Given the description of an element on the screen output the (x, y) to click on. 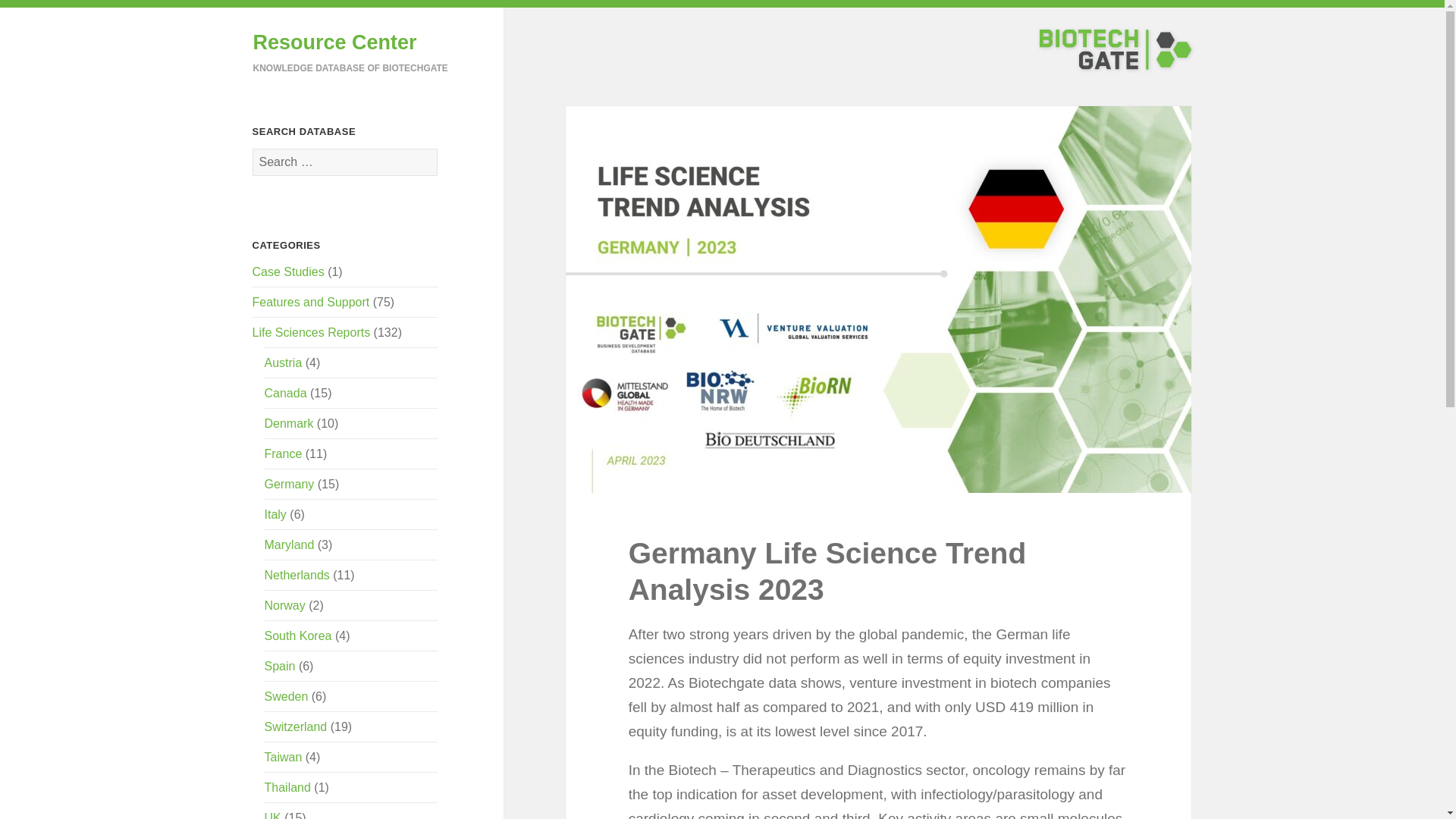
UK (272, 815)
Features and Support (310, 301)
Yearly Life Sciences Reports of Spain (279, 666)
Taiwan (283, 757)
Switzerland (295, 726)
Yearly Life Sciences Reports of Italy (275, 513)
Germany (289, 483)
Case Studies (287, 271)
Maryland (289, 544)
Norway (284, 604)
France (283, 453)
Resource Center (334, 42)
